Given the description of an element on the screen output the (x, y) to click on. 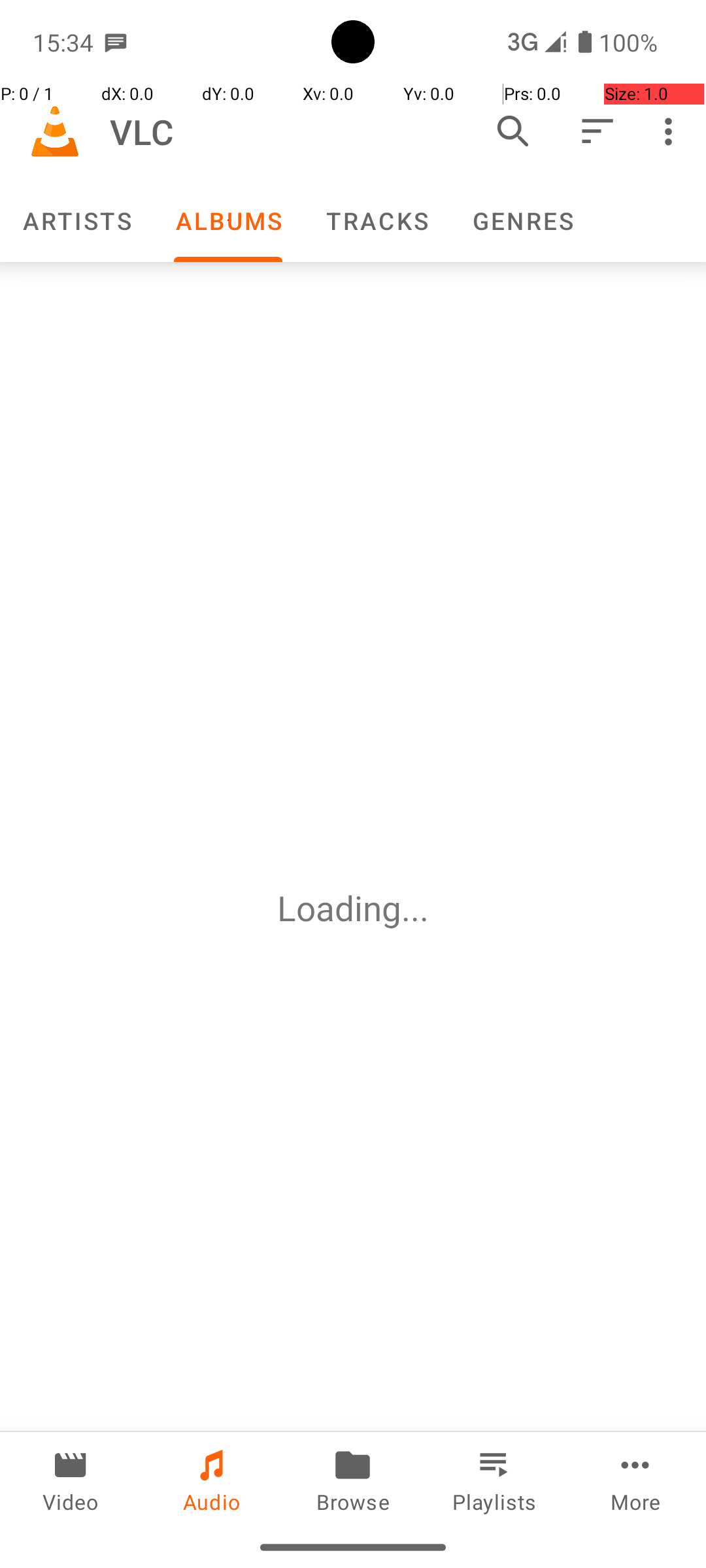
... Element type: android.widget.TextView (414, 907)
Genres Element type: android.widget.LinearLayout (521, 220)
ARTISTS Element type: android.widget.TextView (76, 220)
ALBUMS Element type: android.widget.TextView (227, 220)
TRACKS Element type: android.widget.TextView (376, 220)
GENRES Element type: android.widget.TextView (521, 220)
